Given the description of an element on the screen output the (x, y) to click on. 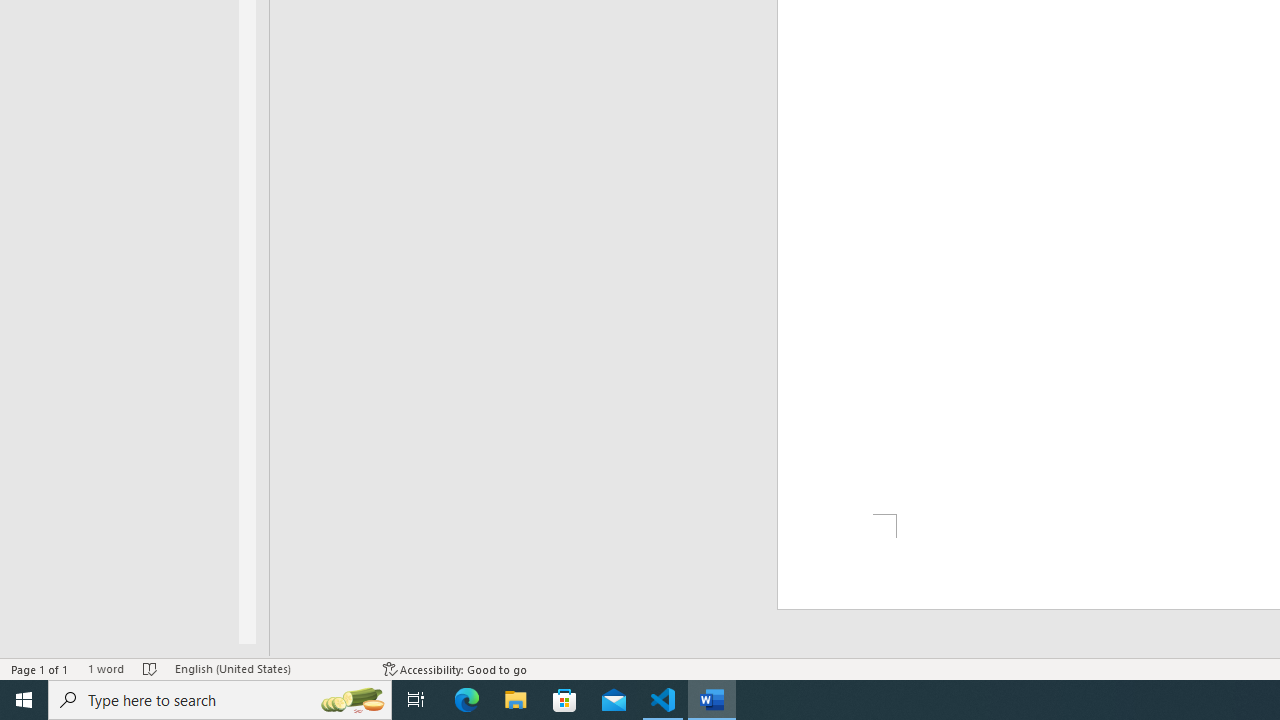
Accessibility Checker Accessibility: Good to go (455, 668)
Spelling and Grammar Check No Errors (150, 668)
Language English (United States) (269, 668)
Page Number Page 1 of 1 (39, 668)
